Given the description of an element on the screen output the (x, y) to click on. 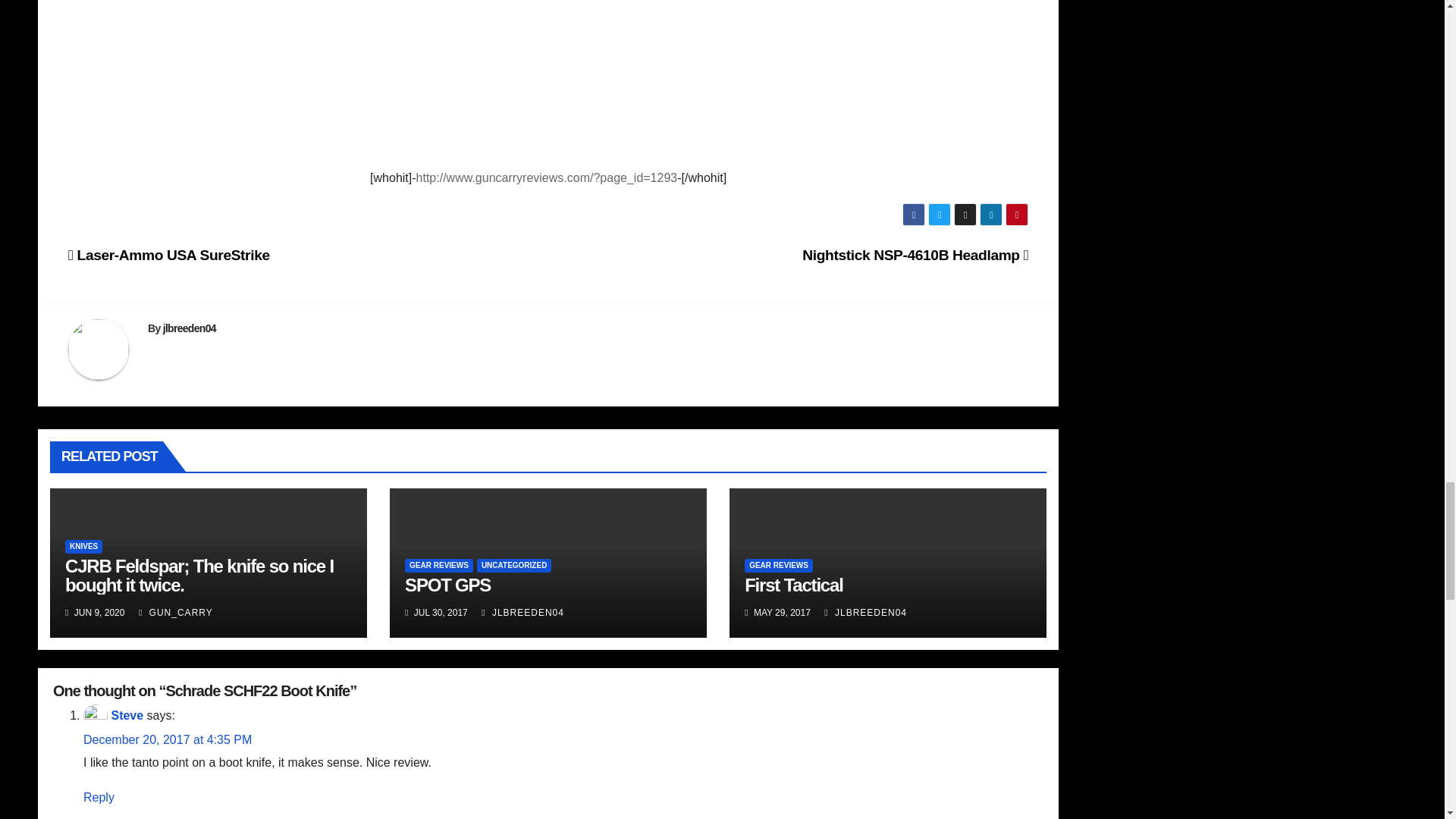
Permalink to: SPOT GPS (447, 584)
Permalink to: First Tactical (793, 584)
